Given the description of an element on the screen output the (x, y) to click on. 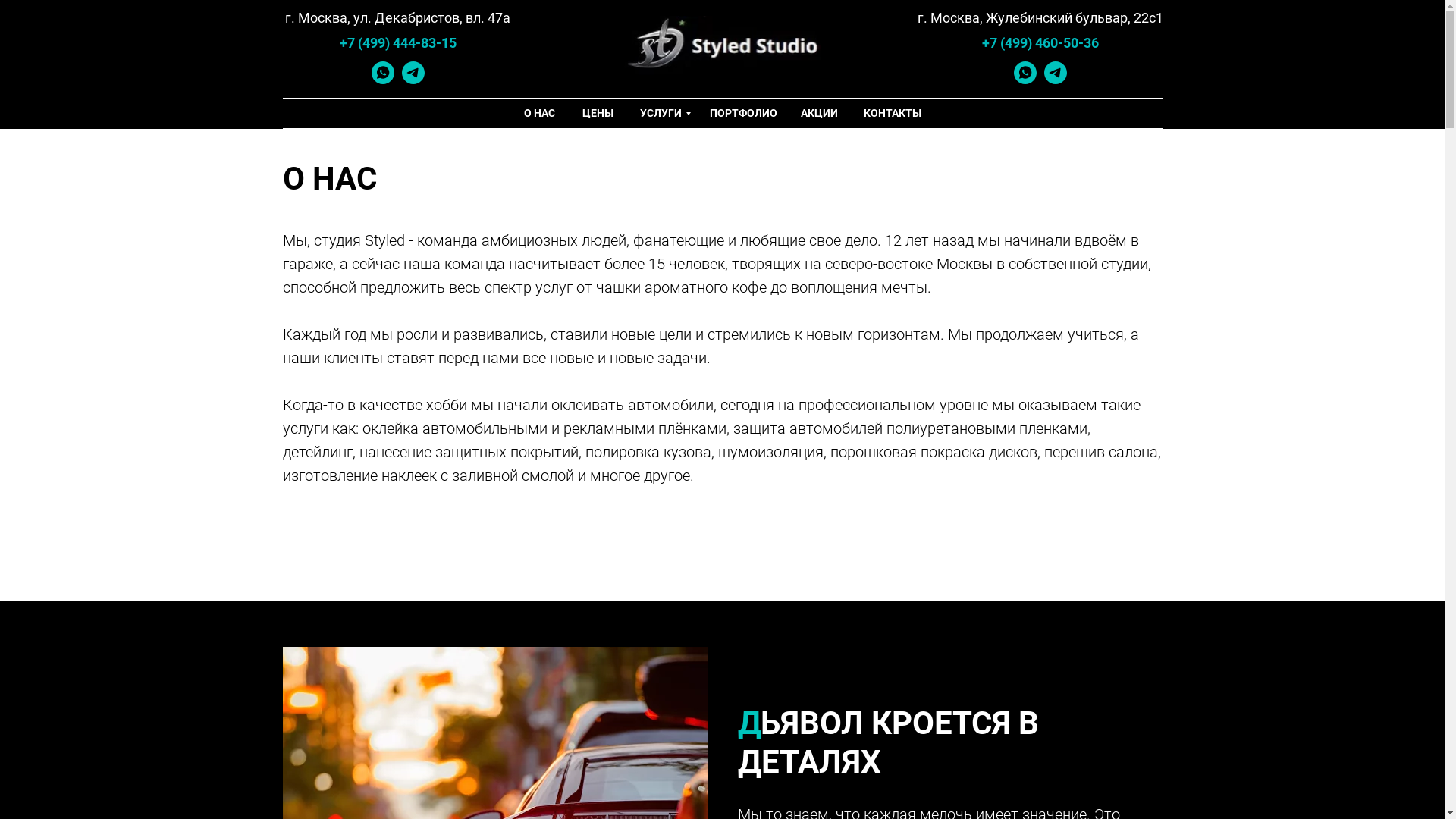
+7 (499) 444-83-15 Element type: text (397, 42)
+7 (499) 460-50-36 Element type: text (1040, 42)
